Given the description of an element on the screen output the (x, y) to click on. 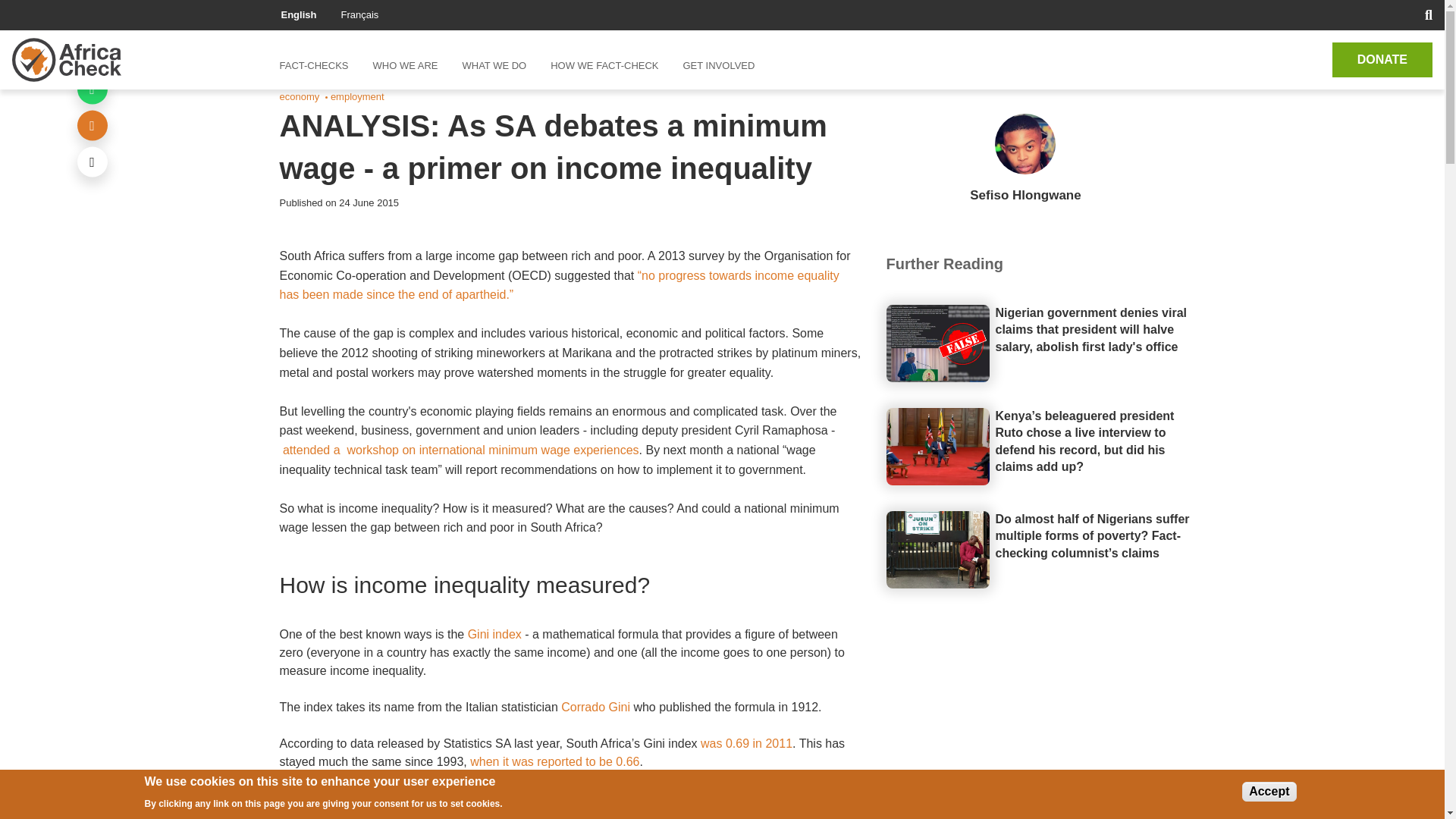
HOW WE FACT-CHECK (603, 65)
WHAT WE DO (493, 65)
FACT-CHECKS (319, 65)
GET INVOLVED (718, 65)
WHO WE ARE (405, 65)
DONATE (1382, 59)
English (298, 14)
